Given the description of an element on the screen output the (x, y) to click on. 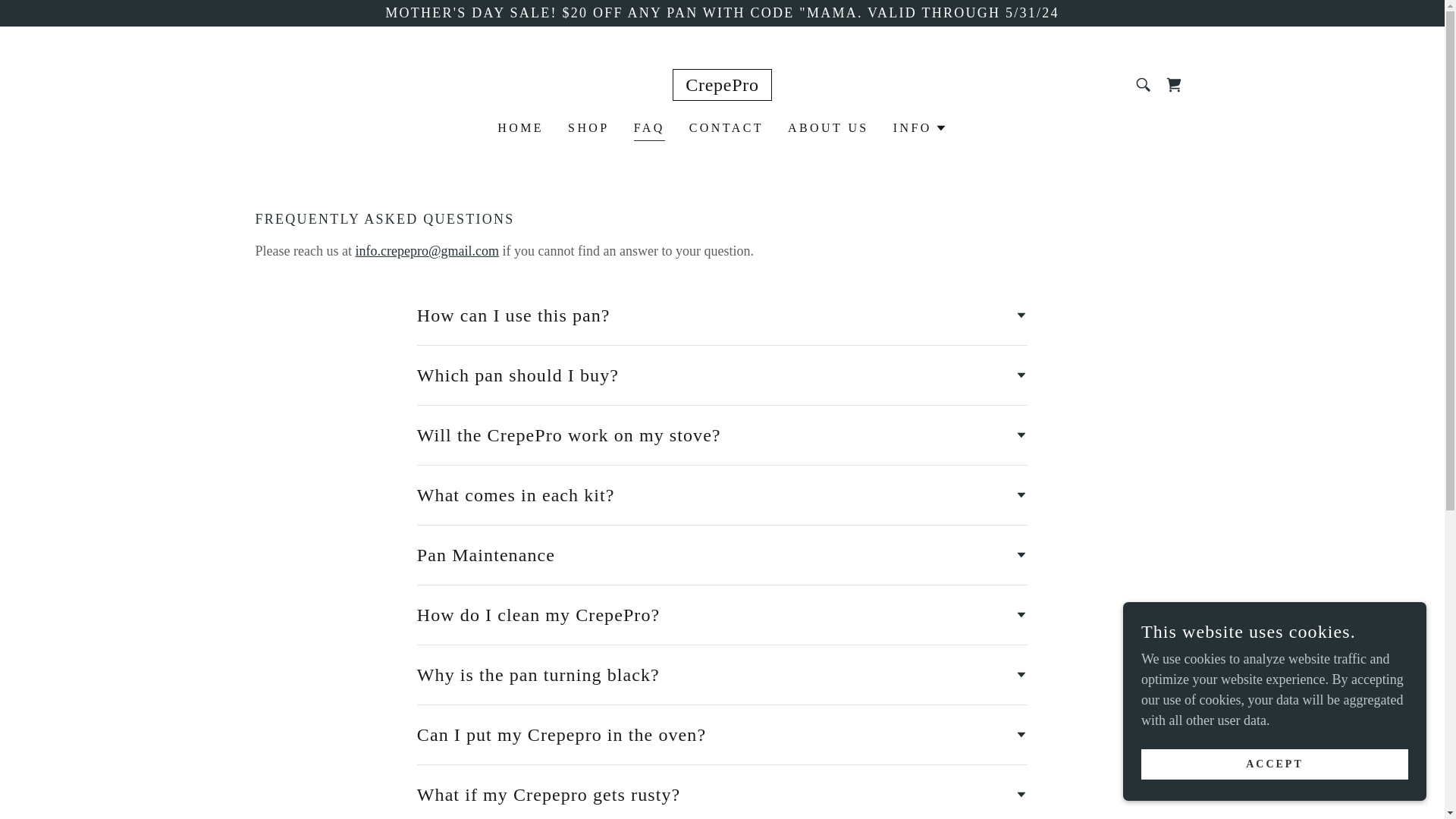
Can I put my Crepepro in the oven? (721, 734)
How can I use this pan? (721, 315)
Why is the pan turning black? (721, 674)
What if my Crepepro gets rusty? (721, 794)
Will the CrepePro work on my stove? (721, 434)
CrepePro (721, 86)
CrepePro (721, 86)
HOME (520, 127)
ABOUT US (828, 127)
Pan Maintenance (721, 554)
SHOP (588, 127)
CONTACT (726, 127)
What comes in each kit? (721, 494)
Which pan should I buy? (721, 375)
How do I clean my CrepePro? (721, 614)
